Given the description of an element on the screen output the (x, y) to click on. 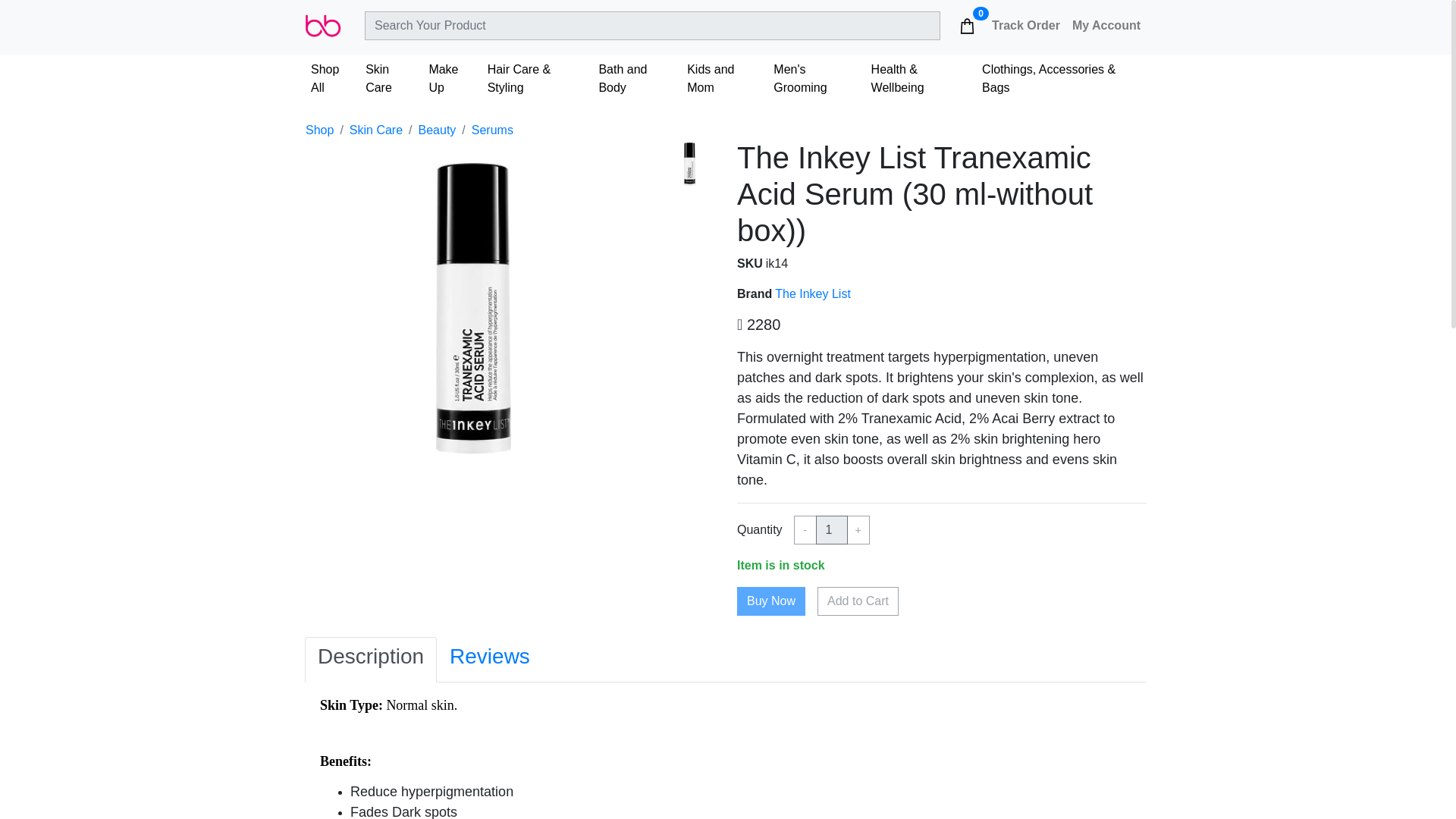
Kids and Mom (724, 78)
Men's Grooming (815, 78)
Shop All (331, 78)
Buy Now (770, 601)
My Account (1106, 25)
Make Up (451, 78)
Skin Care (390, 78)
Bath and Body (636, 78)
Track Order (1025, 25)
1 (831, 529)
